Given the description of an element on the screen output the (x, y) to click on. 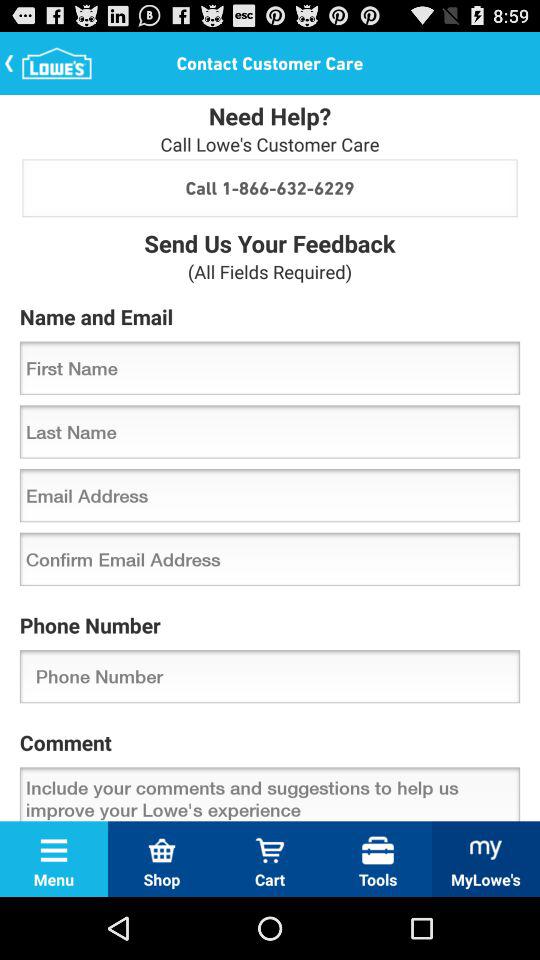
open the item above comment icon (269, 676)
